Given the description of an element on the screen output the (x, y) to click on. 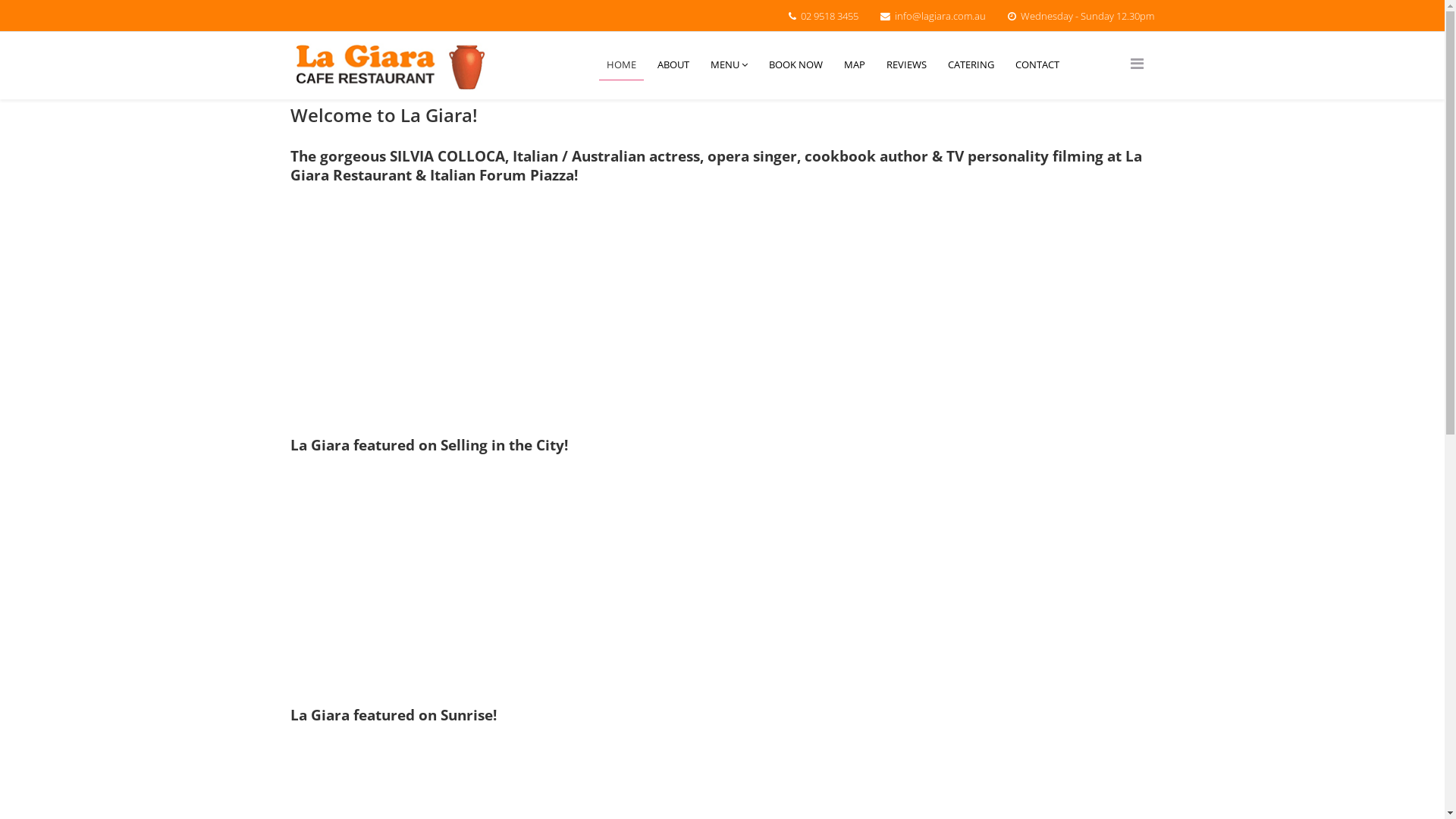
BOOK NOW Element type: text (795, 64)
Menu Element type: hover (1135, 63)
MENU Element type: text (728, 64)
CATERING Element type: text (970, 64)
REVIEWS Element type: text (906, 64)
HOME Element type: text (621, 64)
ABOUT Element type: text (672, 64)
info@lagiara.com.au Element type: text (939, 15)
02 9518 3455 Element type: text (829, 15)
MAP Element type: text (854, 64)
CONTACT Element type: text (1036, 64)
